Given the description of an element on the screen output the (x, y) to click on. 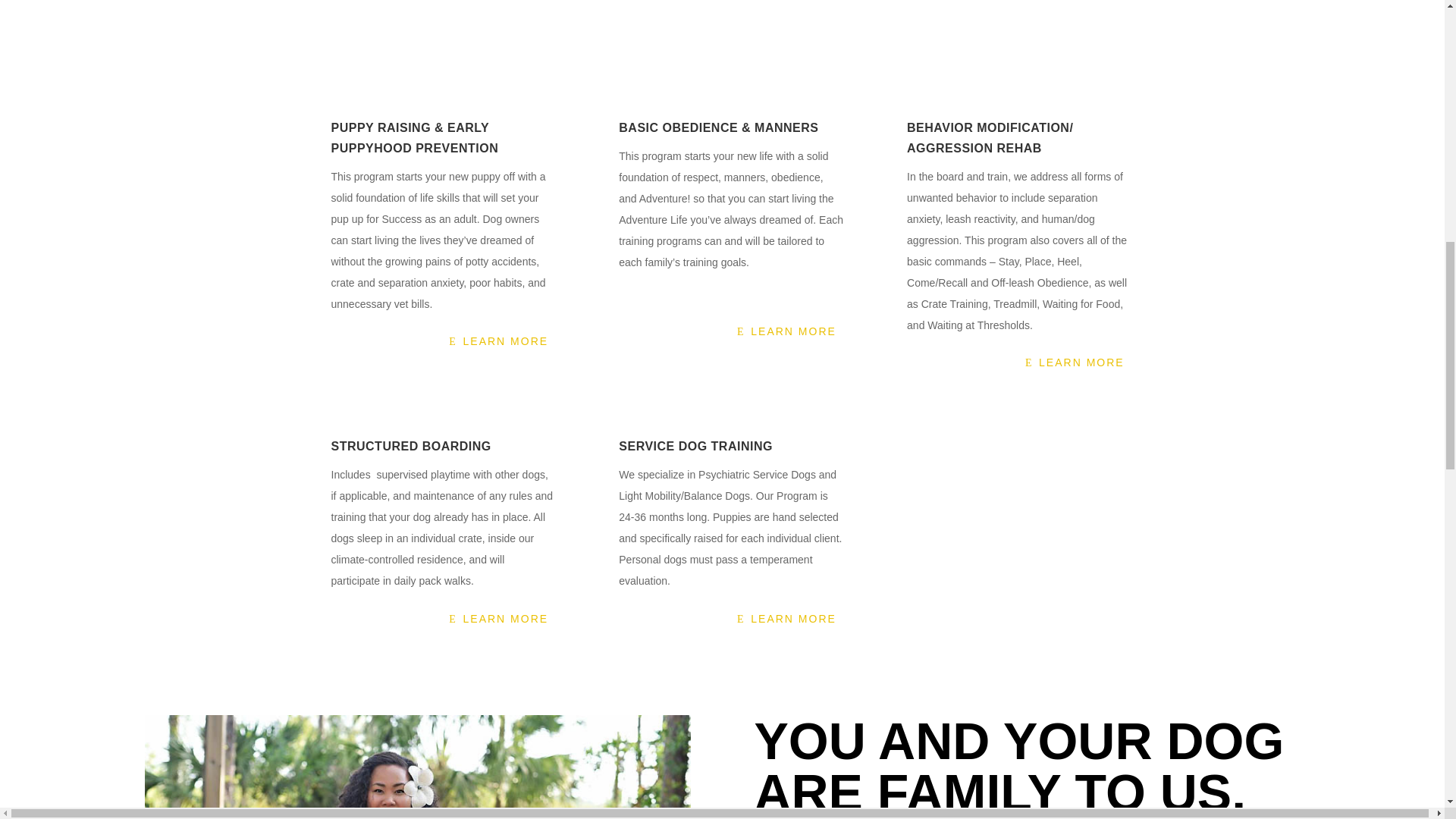
LEARN MORE (786, 331)
LEARN MORE (786, 618)
LEARN MORE (1074, 363)
LEARN MORE (499, 341)
LEARN MORE (499, 618)
